Given the description of an element on the screen output the (x, y) to click on. 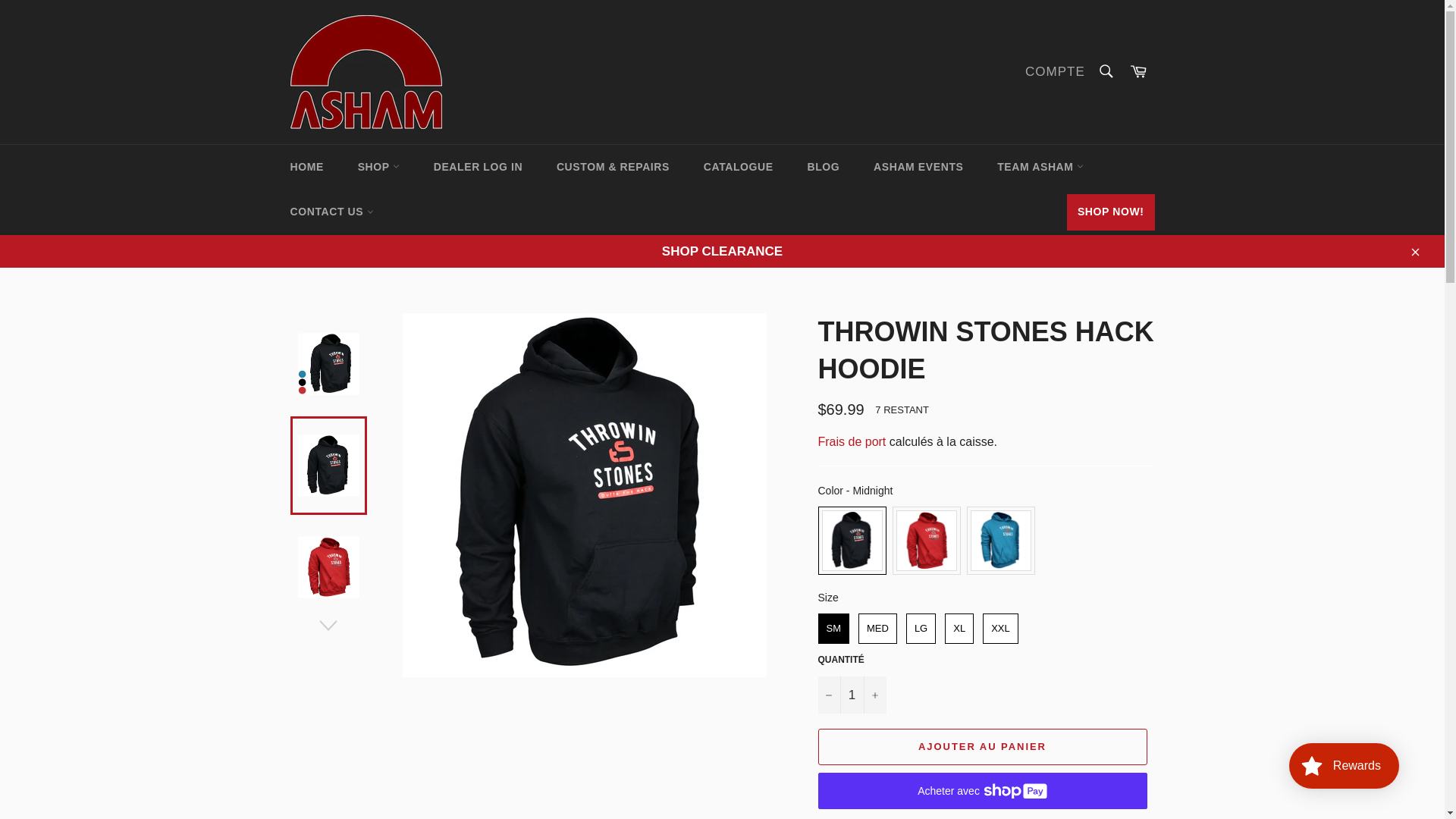
1 (850, 694)
